Given the description of an element on the screen output the (x, y) to click on. 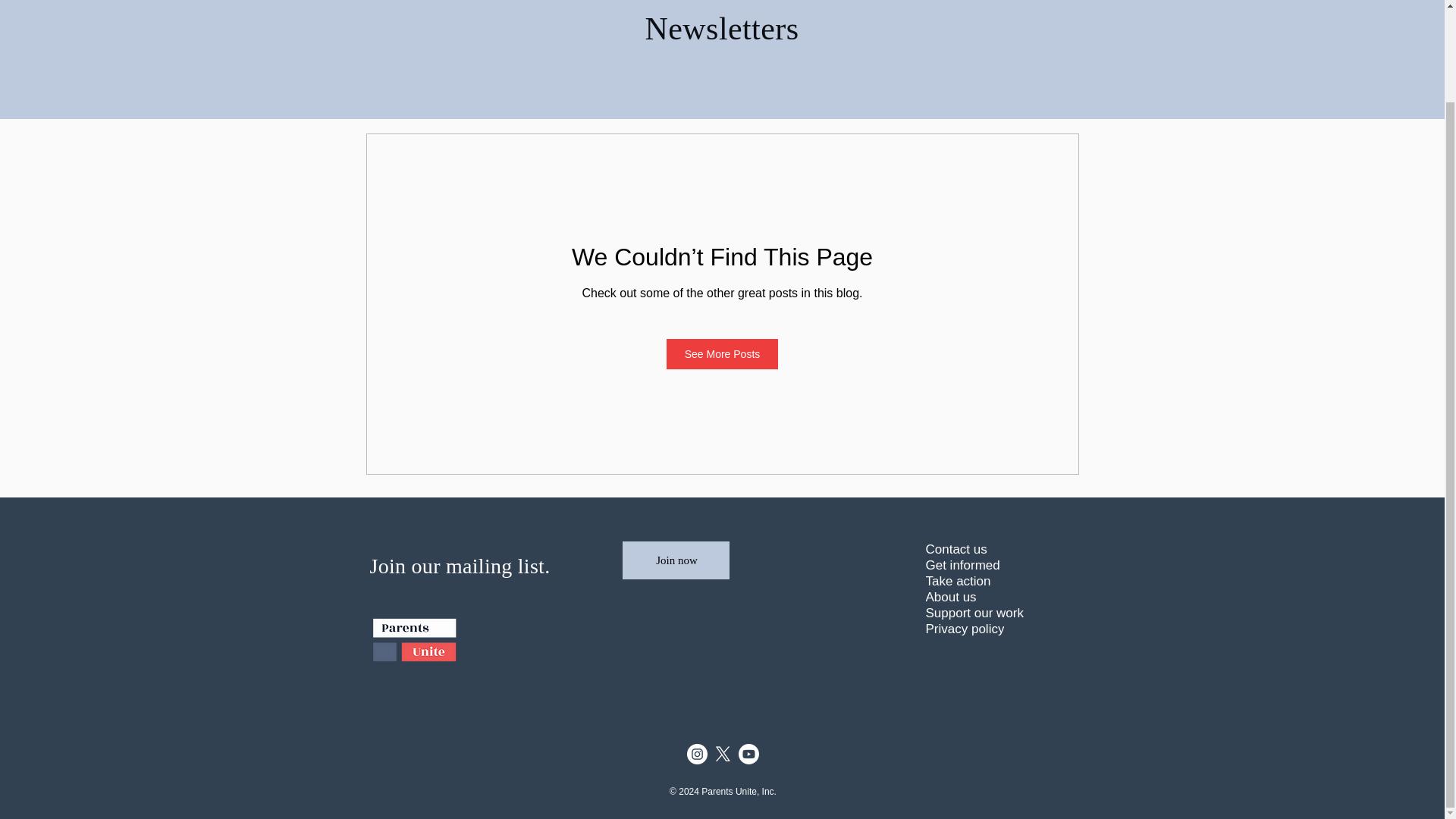
Support our work (989, 612)
Get informed (989, 565)
About us (989, 596)
Take action (989, 580)
Privacy policy (989, 628)
Join now (675, 560)
Contact us (989, 549)
See More Posts (722, 354)
